Given the description of an element on the screen output the (x, y) to click on. 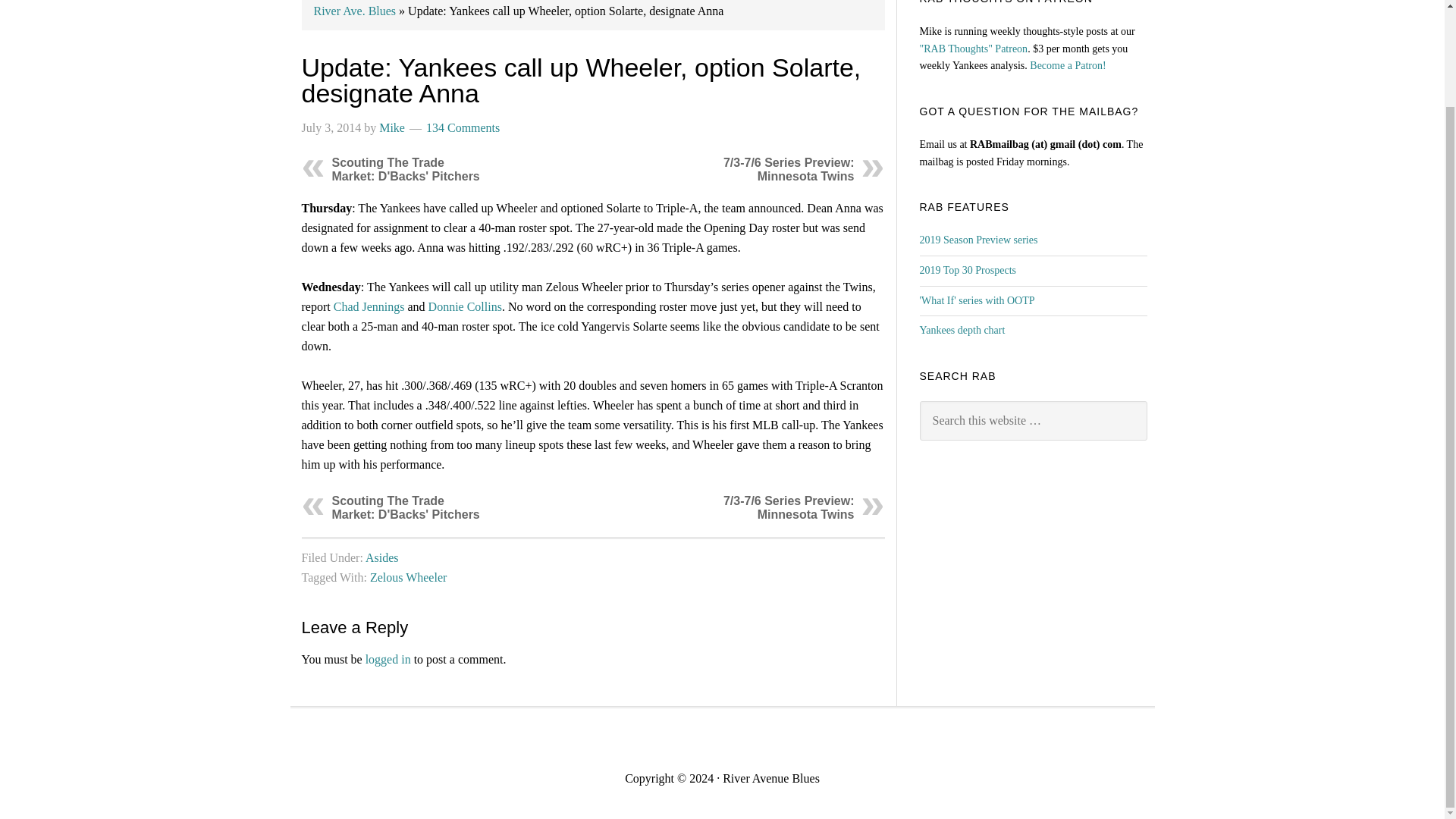
Chad Jennings (368, 306)
Mike (391, 127)
Donnie Collins (465, 306)
logged in (387, 658)
134 Comments (462, 127)
2019 Season Preview series (977, 239)
Asides (381, 557)
"RAB Thoughts" Patreon (972, 48)
Scouting The Trade Market: D'Backs' Pitchers (405, 169)
River Ave. Blues (355, 10)
Become a Patron! (1067, 65)
2019 Top 30 Prospects (966, 270)
'What If' series with OOTP (975, 300)
